Given the description of an element on the screen output the (x, y) to click on. 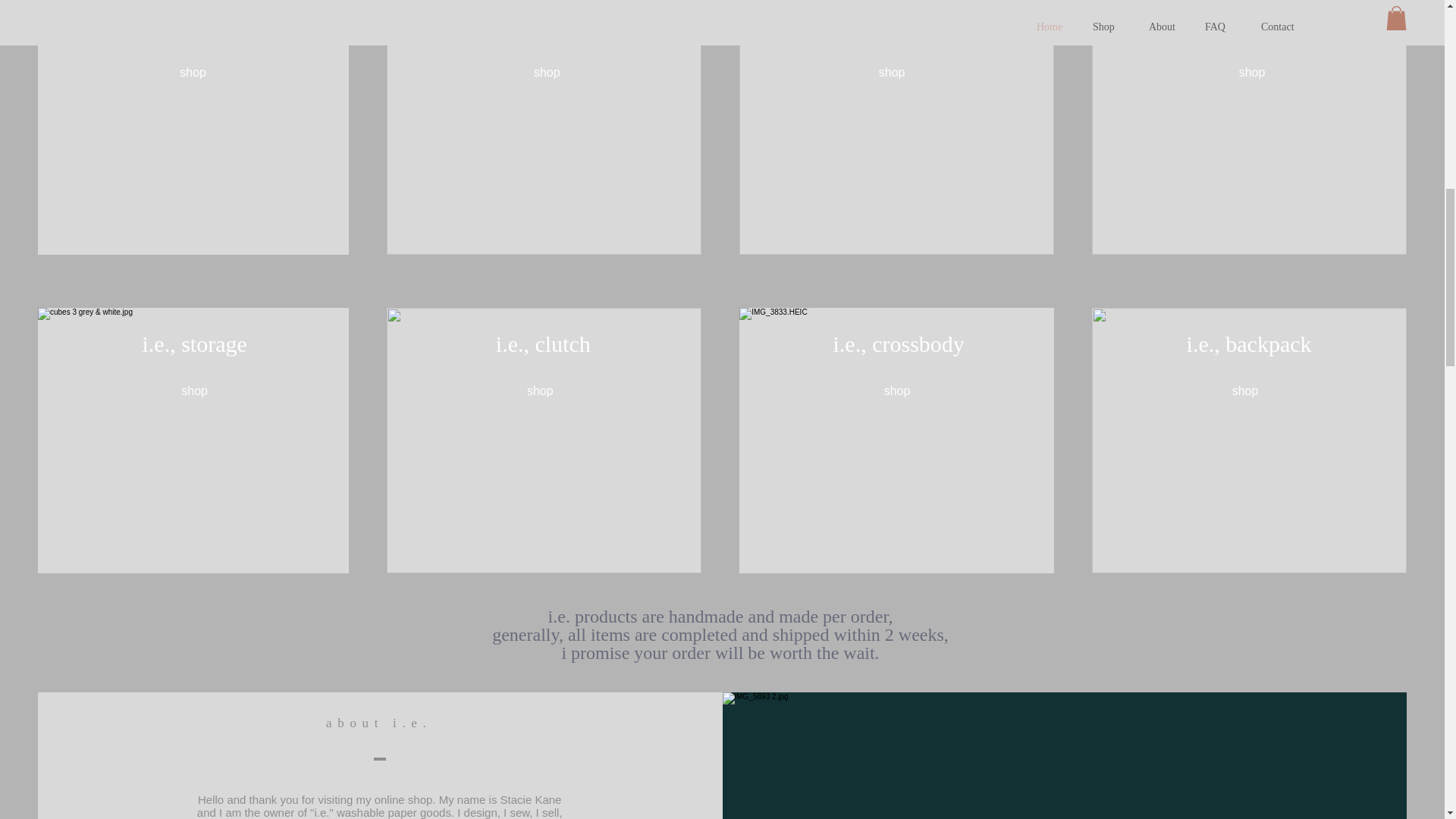
shop (891, 72)
shop (1245, 390)
shop (193, 390)
i.e., beach (193, 27)
i.e., crossbody (898, 343)
shop (897, 390)
i.e., market (897, 31)
shop (538, 390)
i.e., lunch (1249, 28)
i.e., backpack (1249, 344)
shop (1251, 72)
shop (546, 72)
i.e., storage (195, 344)
shop (192, 72)
i.e., clutch (542, 344)
